Given the description of an element on the screen output the (x, y) to click on. 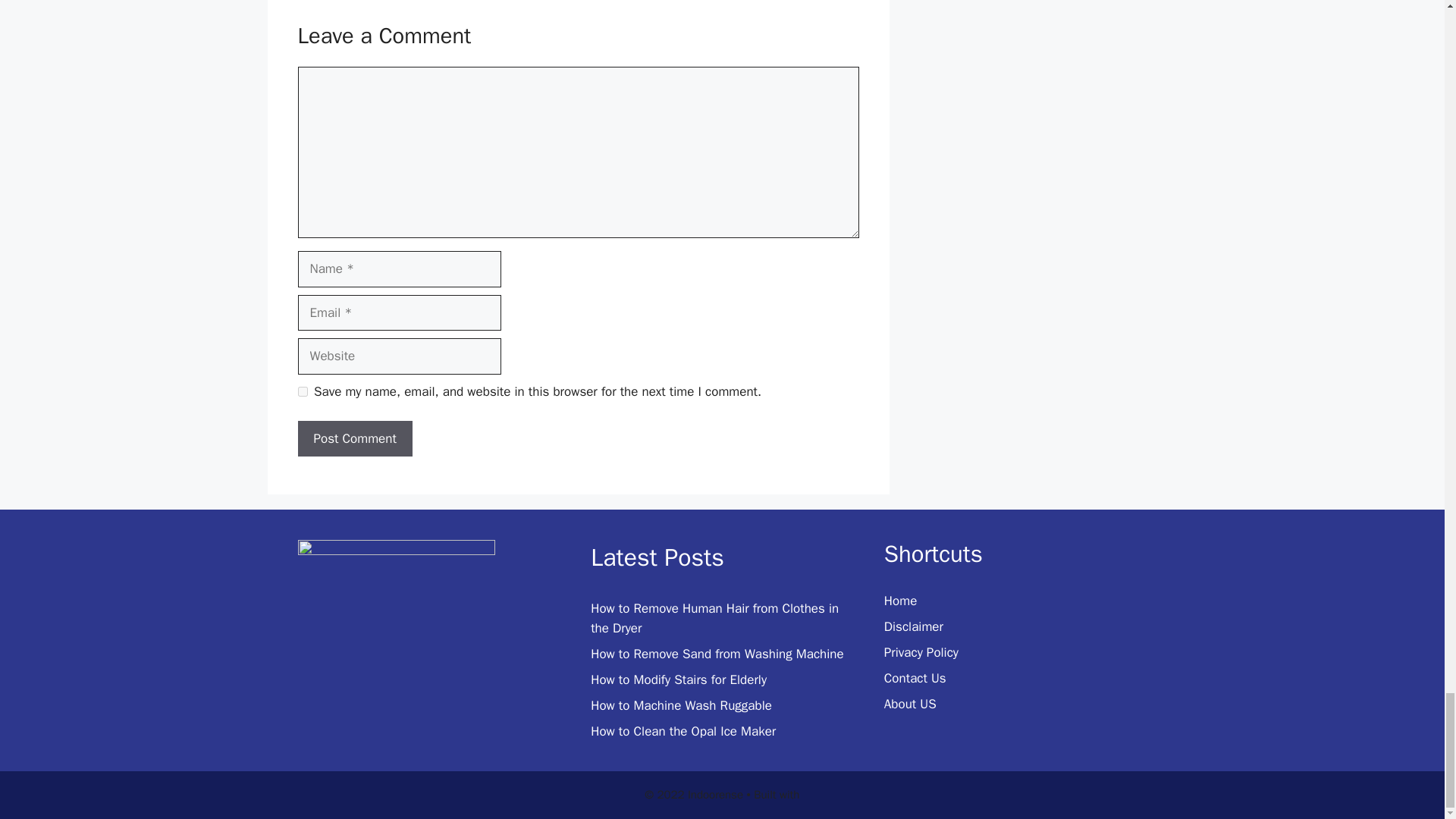
yes (302, 391)
Post Comment (354, 438)
How to Remove Human Hair from Clothes in the Dryer (714, 618)
Post Comment (354, 438)
